Given the description of an element on the screen output the (x, y) to click on. 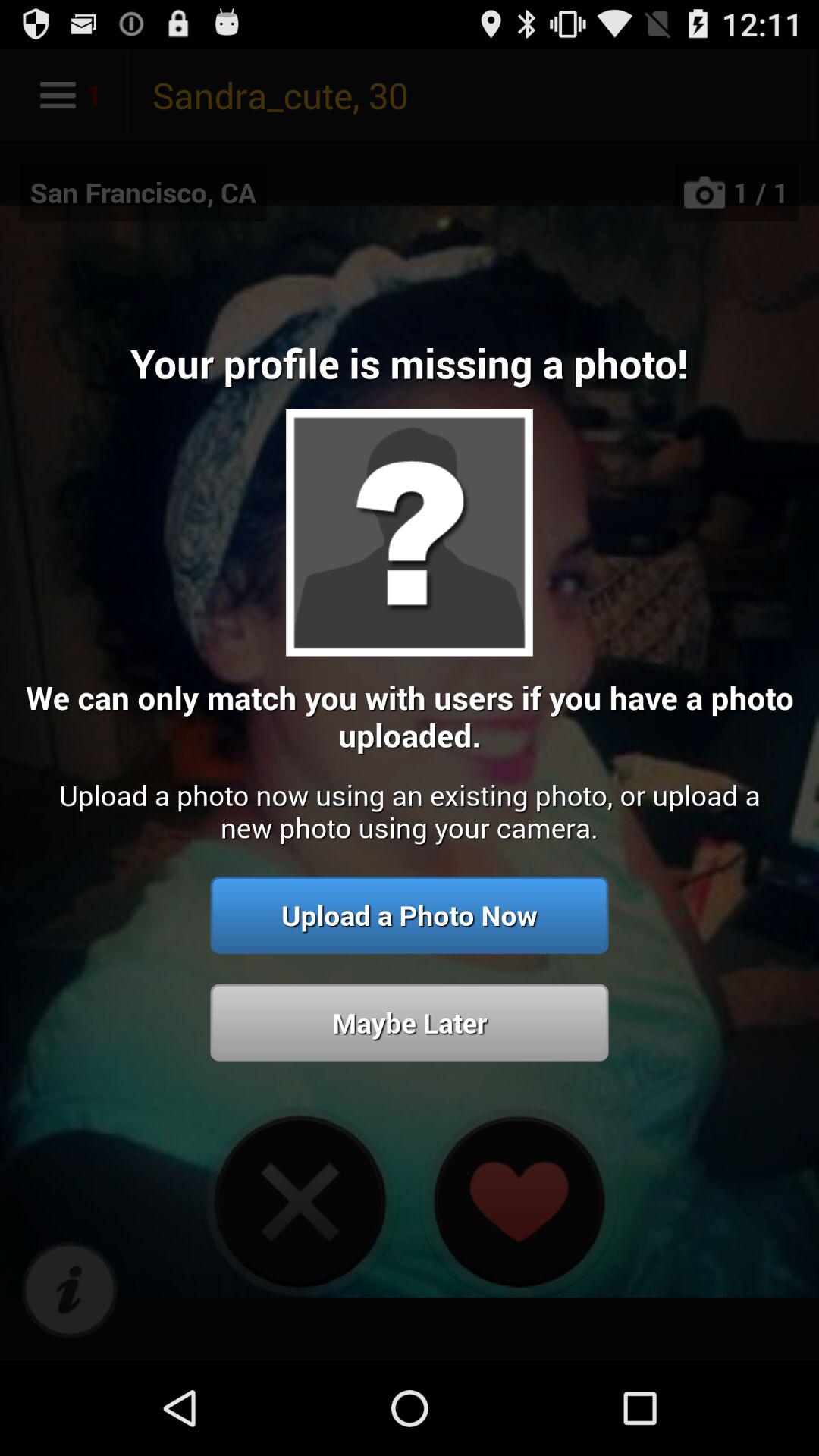
shows i icon (69, 1290)
